Given the description of an element on the screen output the (x, y) to click on. 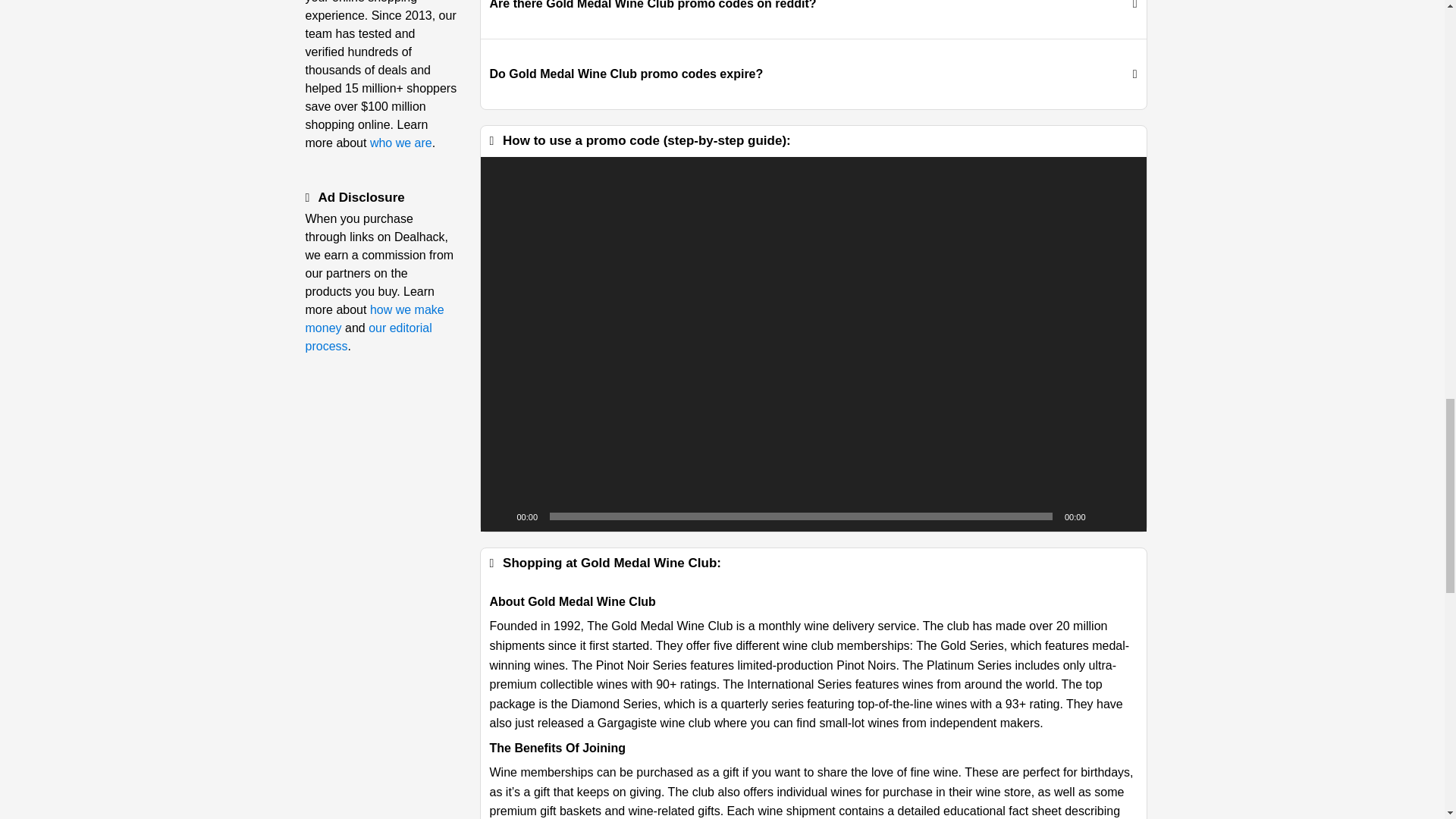
Play (500, 516)
Fullscreen (1126, 516)
Mute (1101, 516)
